Given the description of an element on the screen output the (x, y) to click on. 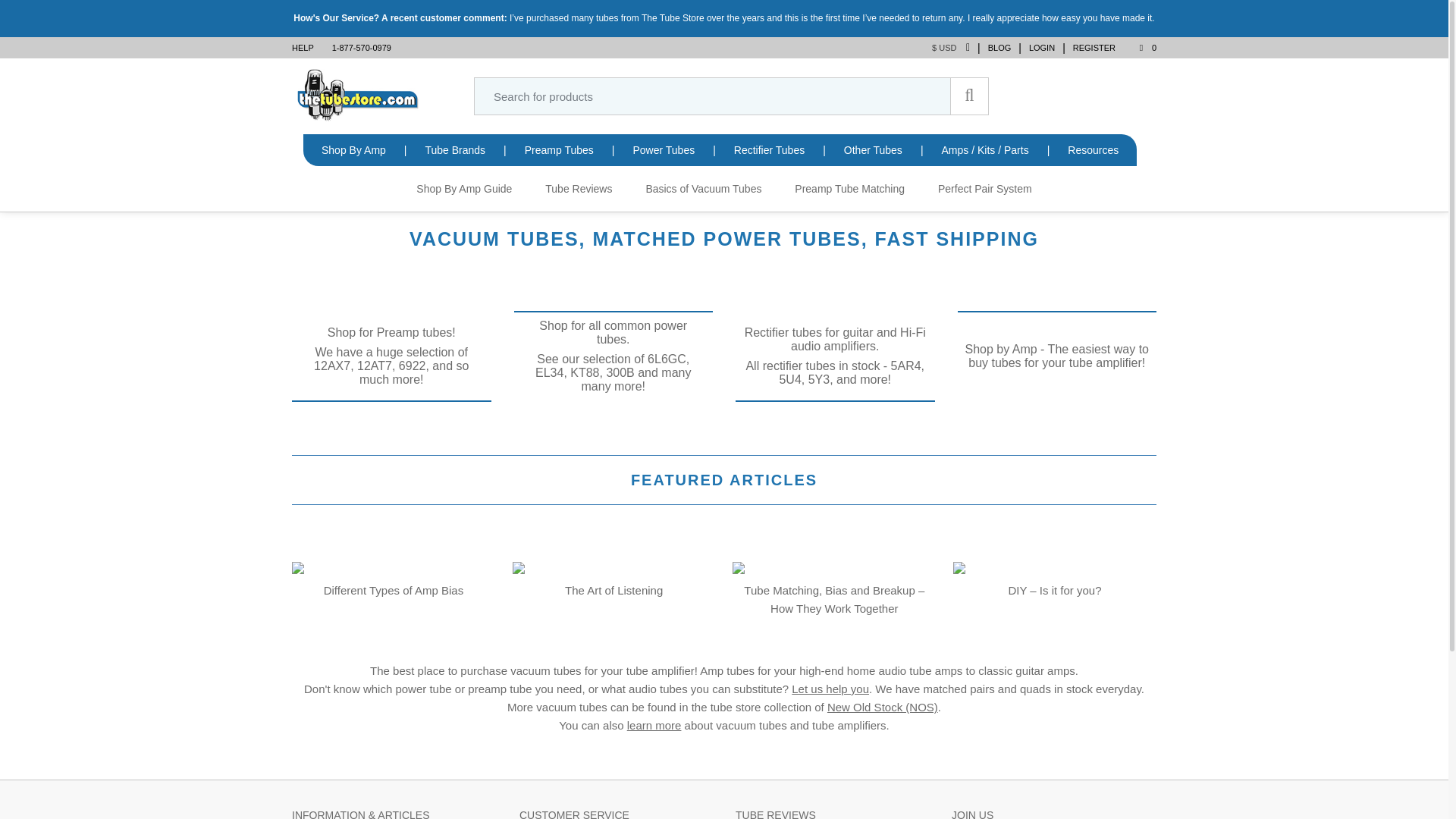
BLOG (999, 47)
HELP (306, 47)
1-877-570-0979 (361, 47)
Tube Brands (454, 150)
Preamp Tubes (558, 150)
www.thetubestore.com (358, 94)
LOGIN (1042, 47)
0 (1139, 47)
Shop By Amp (353, 150)
REGISTER (1093, 47)
Cart (1139, 47)
